Given the description of an element on the screen output the (x, y) to click on. 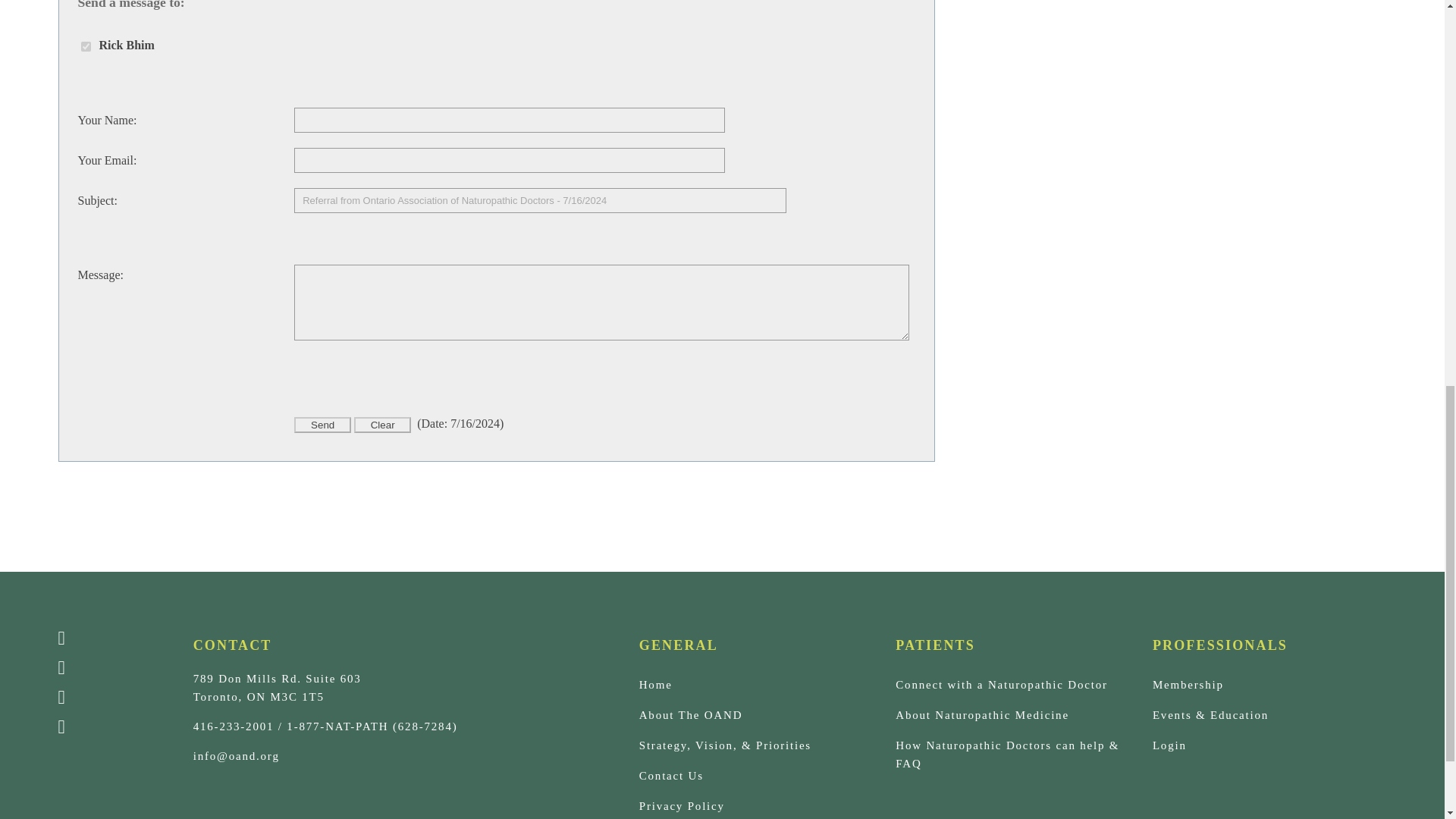
Send (322, 424)
on (85, 46)
Clear (381, 424)
